Given the description of an element on the screen output the (x, y) to click on. 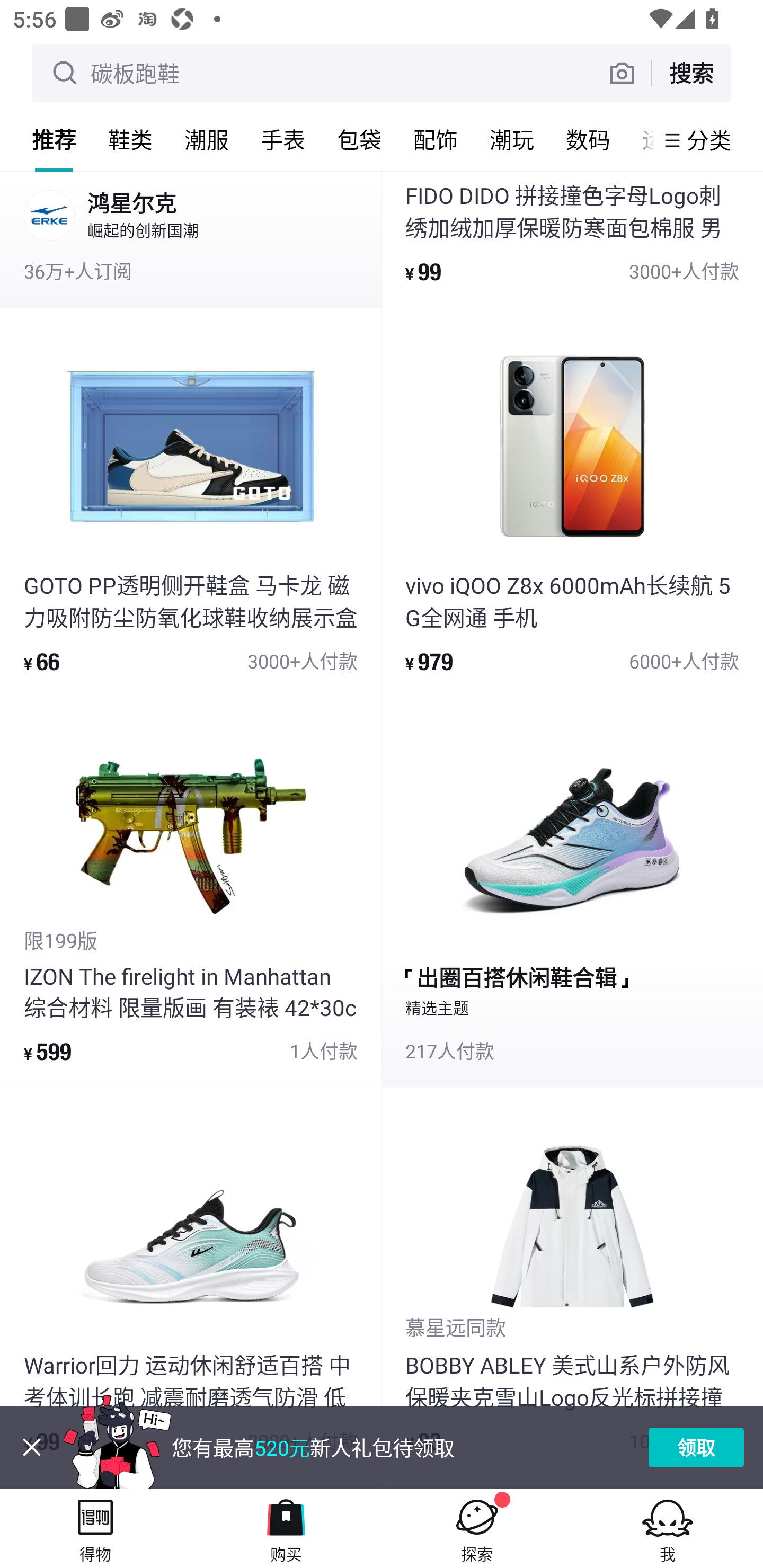
搜索 (690, 72)
推荐 (54, 139)
鞋类 (130, 139)
潮服 (206, 139)
手表 (282, 139)
包袋 (359, 139)
配饰 (435, 139)
潮玩 (511, 139)
数码 (588, 139)
分类 (708, 139)
鸿星尔克 崛起的创新国潮 36万+人订阅 (190, 238)
出圈百搭休闲鞋合辑 精选主题 217人付款 (572, 892)
领取 (695, 1446)
得物 (95, 1528)
购买 (285, 1528)
探索 (476, 1528)
我 (667, 1528)
